Given the description of an element on the screen output the (x, y) to click on. 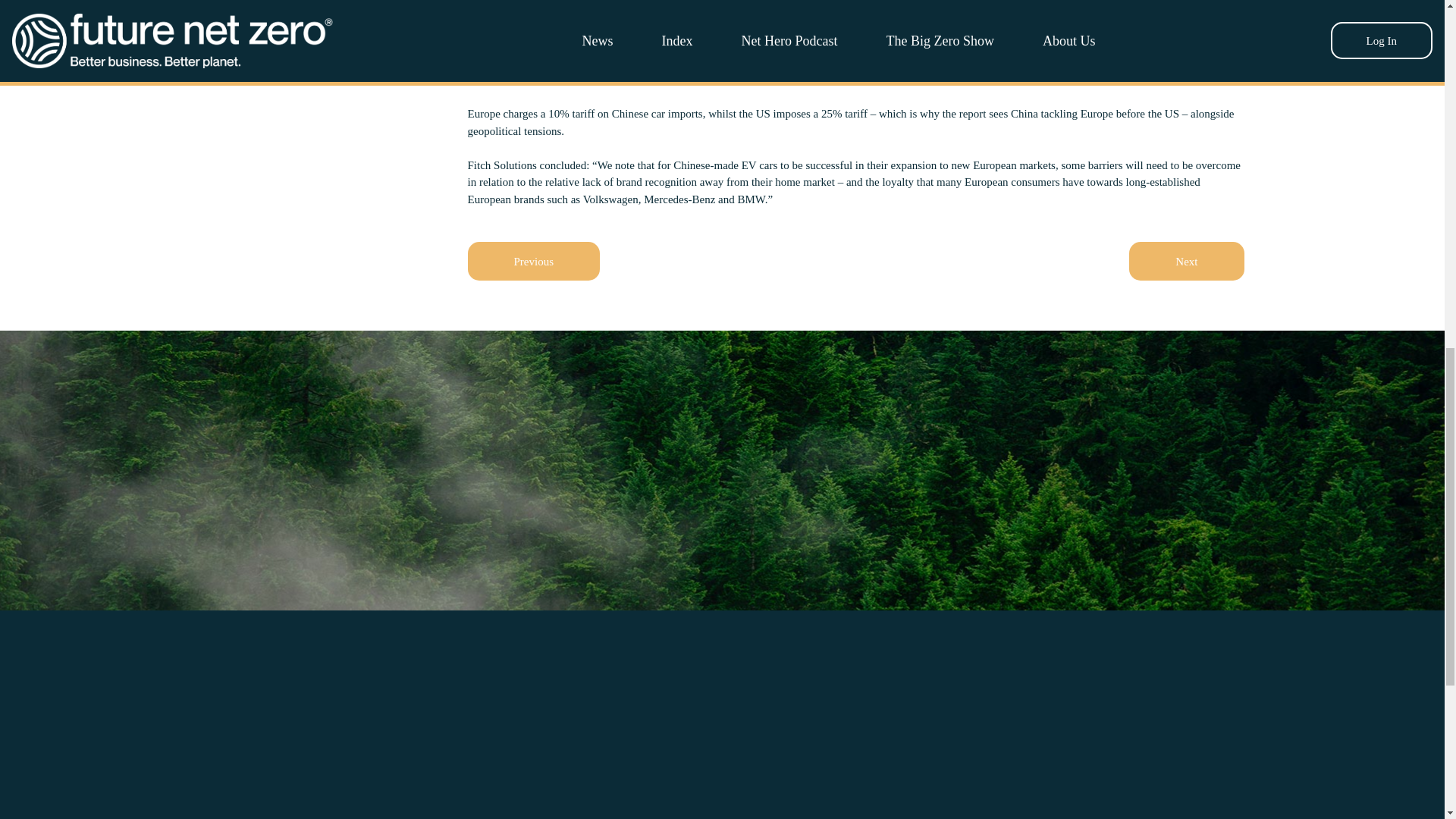
Next (1186, 260)
Previous (533, 260)
